Given the description of an element on the screen output the (x, y) to click on. 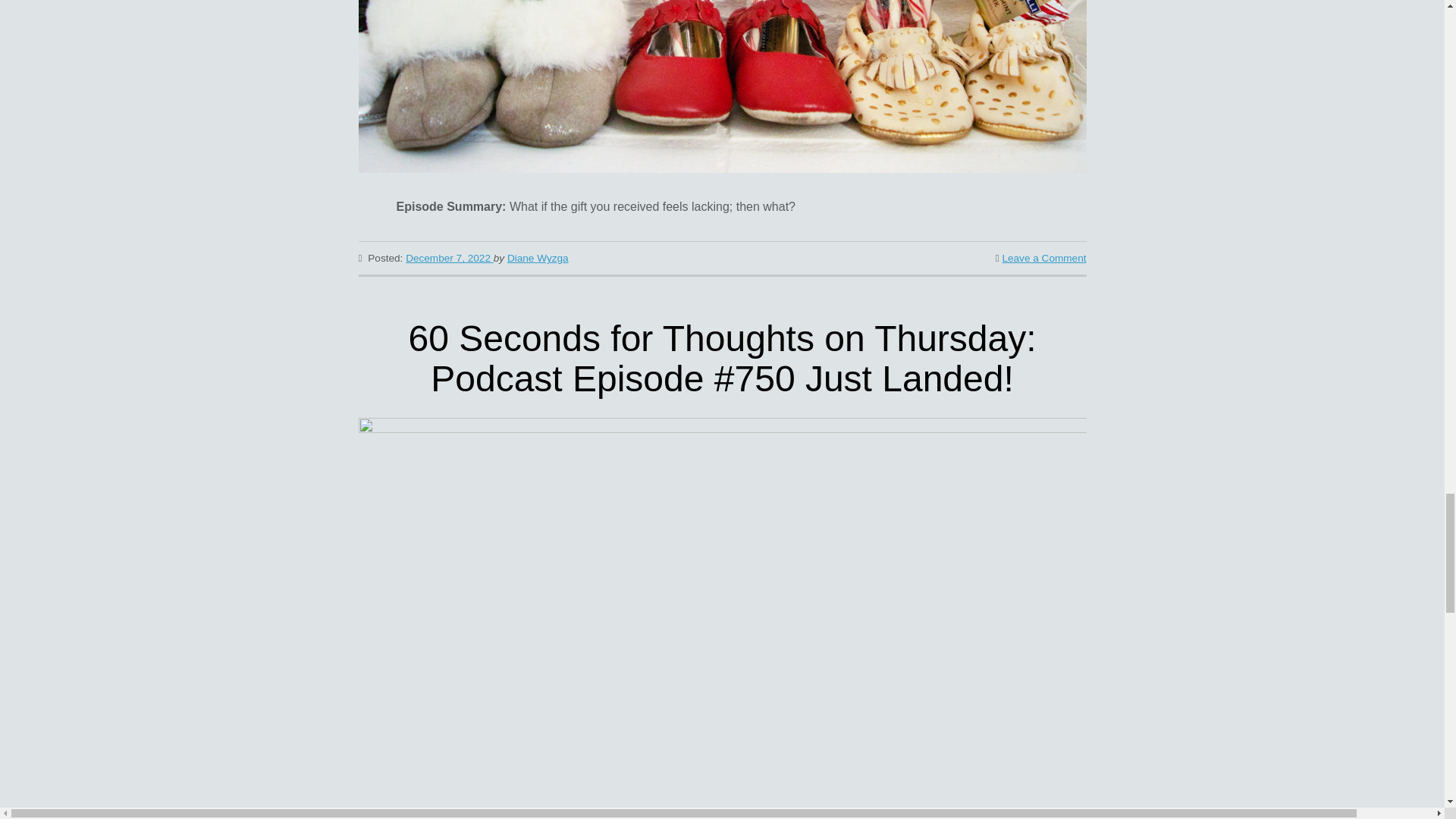
Posts by Diane Wyzga (537, 257)
Diane Wyzga (537, 257)
Leave a Comment (1043, 257)
December 7, 2022 (449, 257)
12:15 pm (449, 257)
